Given the description of an element on the screen output the (x, y) to click on. 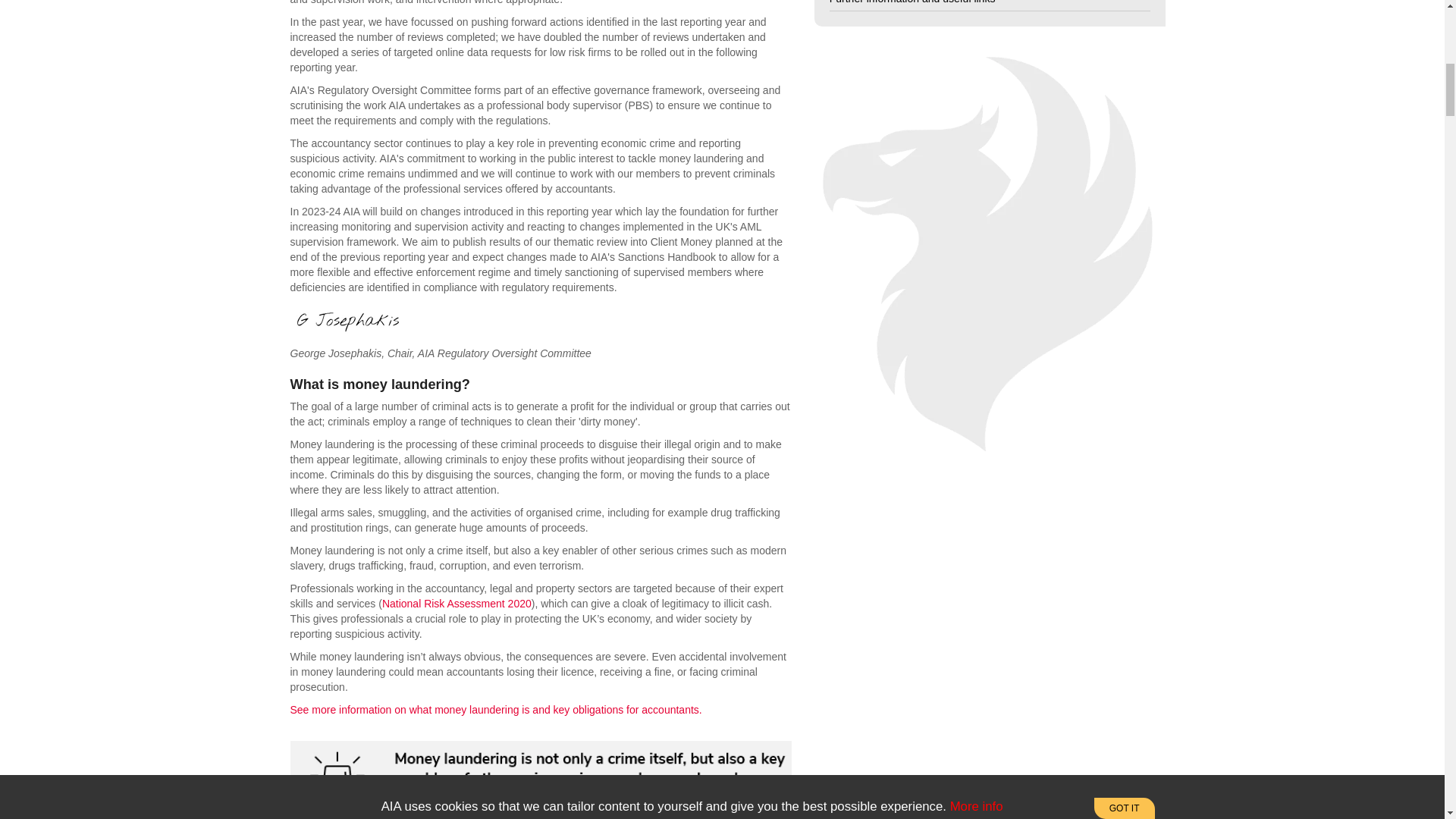
AML Supervision (495, 709)
